Given the description of an element on the screen output the (x, y) to click on. 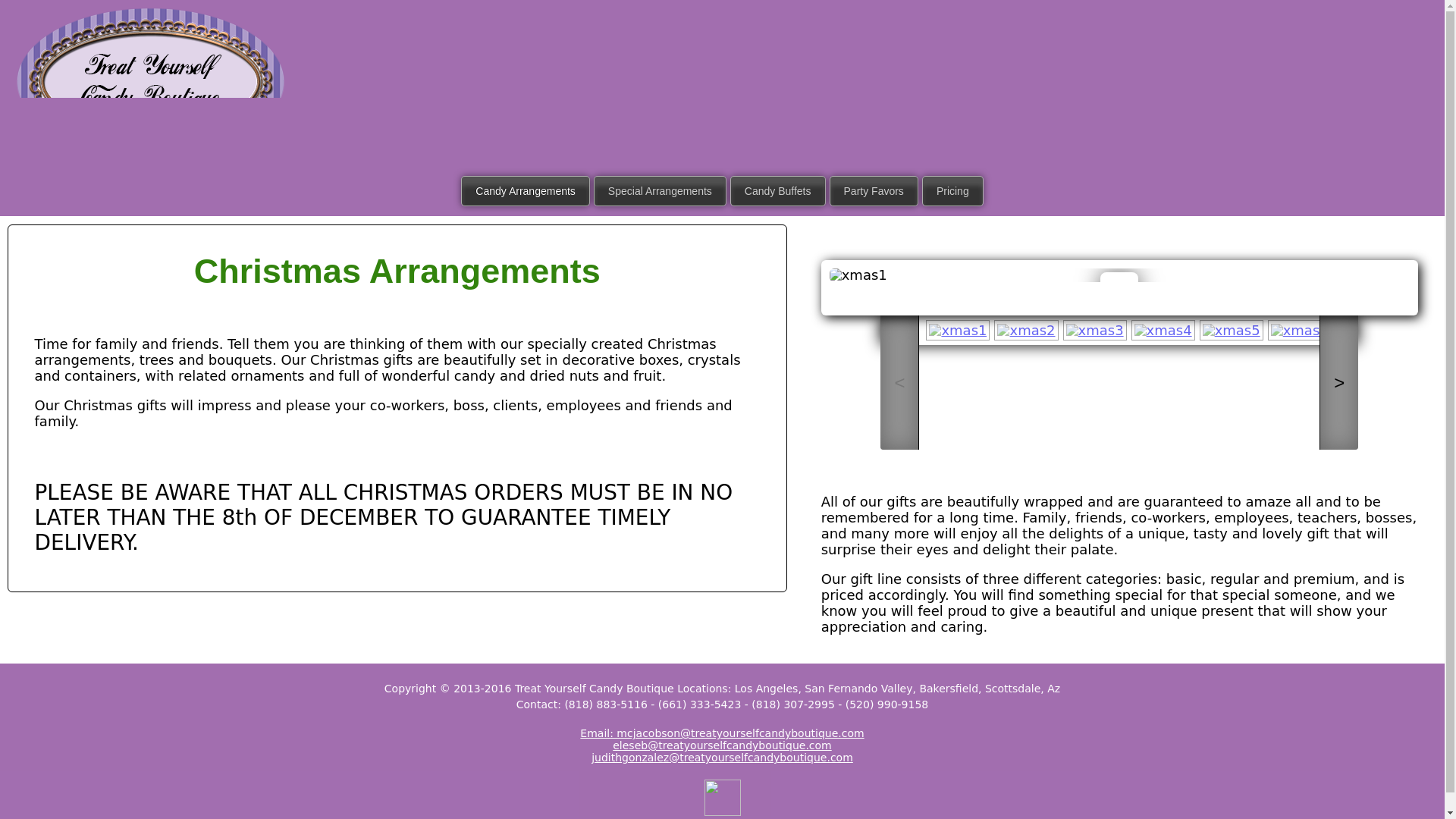
First (1088, 296)
Special Arrangements (660, 191)
Previous (1104, 296)
xmas5 (1231, 330)
xmas1 (1119, 274)
Candy Arrangements (525, 191)
xmas4 (1163, 330)
xmas2 (1026, 330)
Pricing (952, 191)
Party Favors (873, 191)
Next (1133, 296)
Play (1119, 296)
Last (1149, 296)
xmas1 (958, 330)
xmas6 (1300, 330)
